Given the description of an element on the screen output the (x, y) to click on. 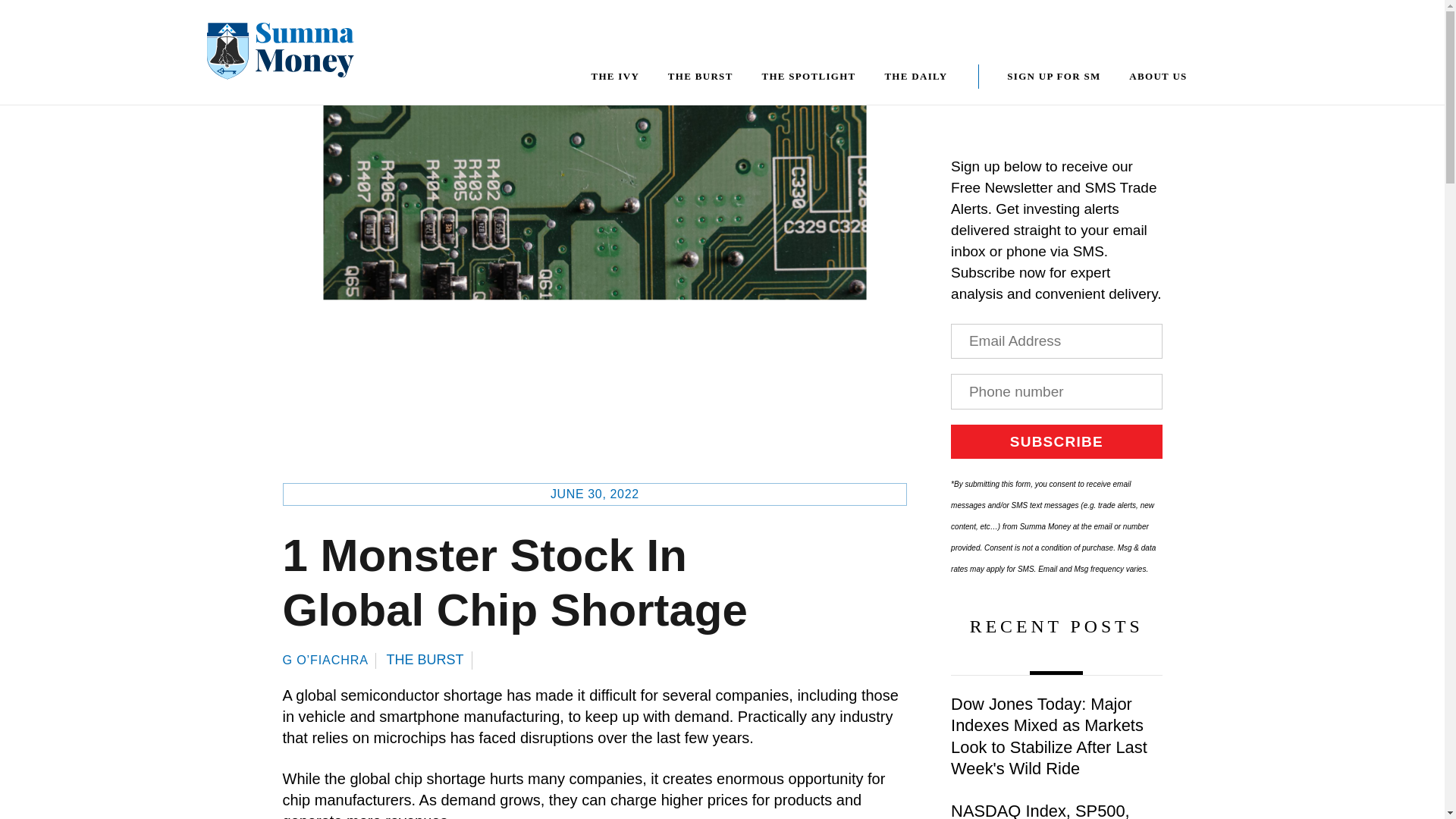
SIGN UP FOR SM (1053, 76)
1 Monster Stock In Global Chip Shortage (514, 582)
THE DAILY (916, 76)
THE IVY (615, 76)
THE SPOTLIGHT (808, 76)
ABOUT US (1158, 76)
THE BURST (700, 76)
Summa-Money-Big (279, 50)
